Given the description of an element on the screen output the (x, y) to click on. 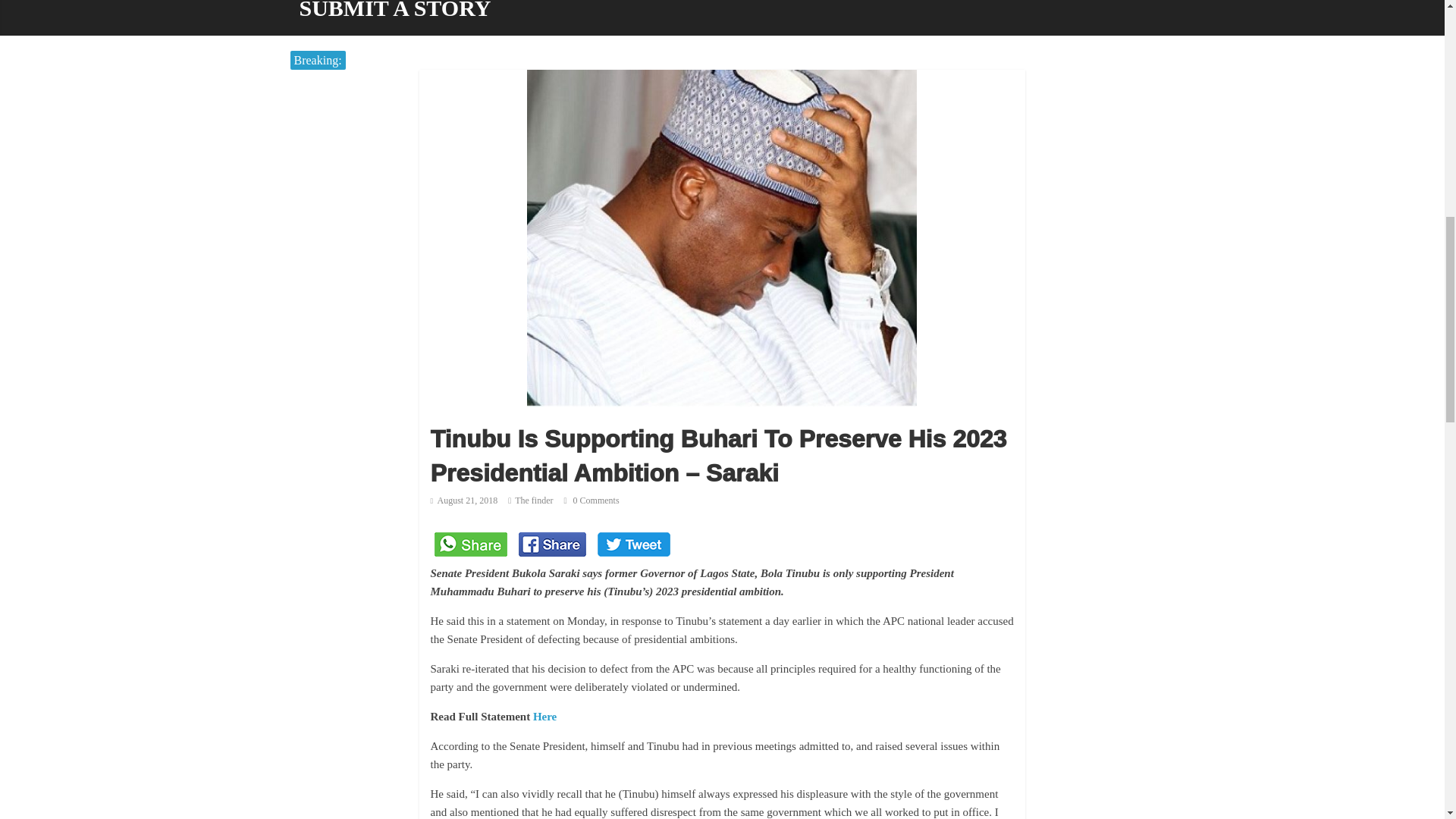
August 21, 2018 (463, 500)
7:15 am (463, 500)
The finder (534, 500)
Here (544, 716)
The finder (534, 500)
0 Comments (592, 500)
SUBMIT A STORY (394, 18)
